Given the description of an element on the screen output the (x, y) to click on. 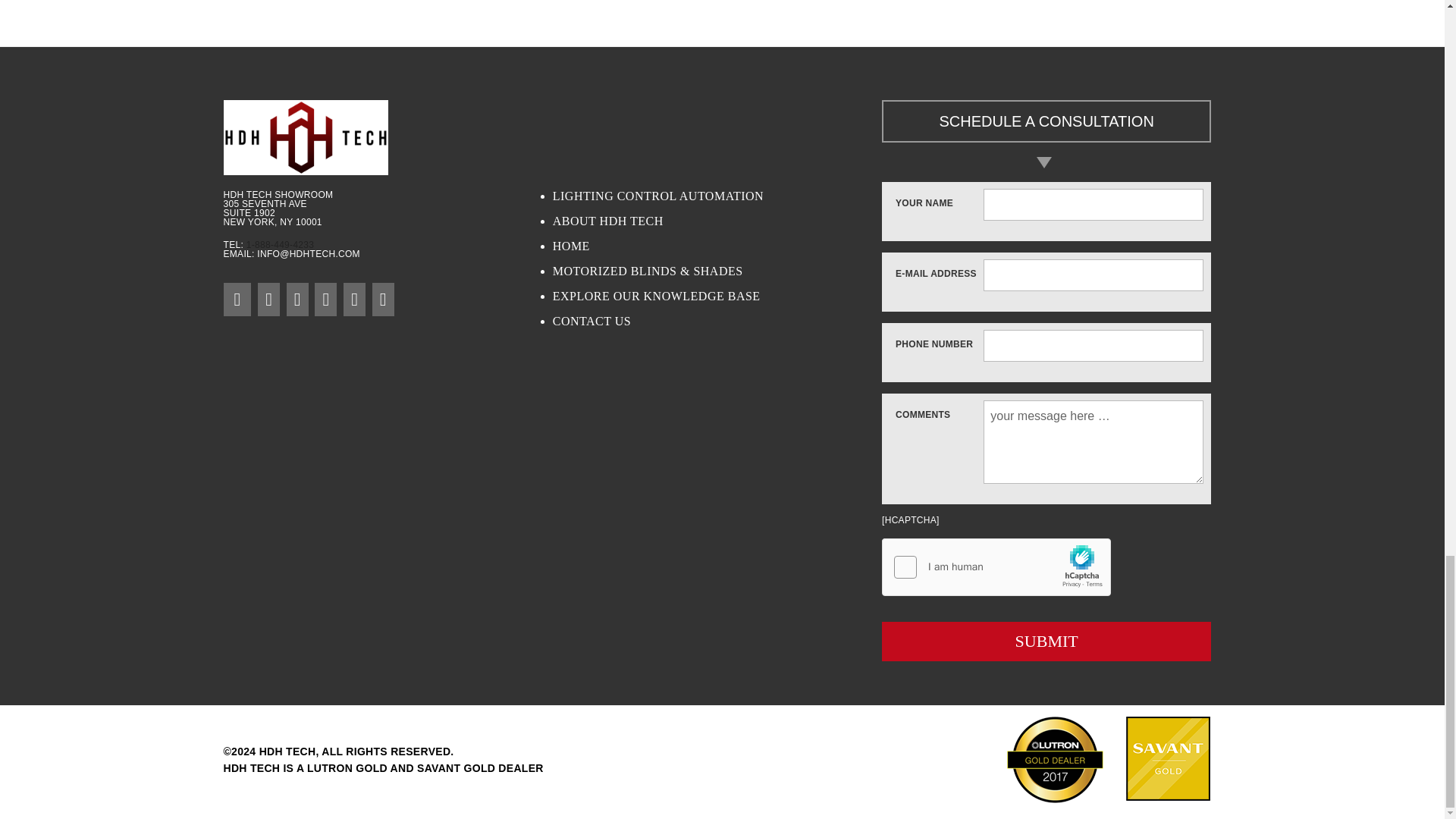
SCHEDULE A CONSULTATION (1046, 121)
EXPLORE OUR KNOWLEDGE BASE (717, 296)
SUBMIT (1046, 640)
SUBMIT (1046, 640)
Widget containing checkbox for hCaptcha security challenge (997, 567)
ABOUT HDH TECH (717, 220)
LIGHTING CONTROL AUTOMATION (717, 196)
CONTACT US (717, 321)
1-888-449-4233 (280, 244)
HOME (717, 246)
